Given the description of an element on the screen output the (x, y) to click on. 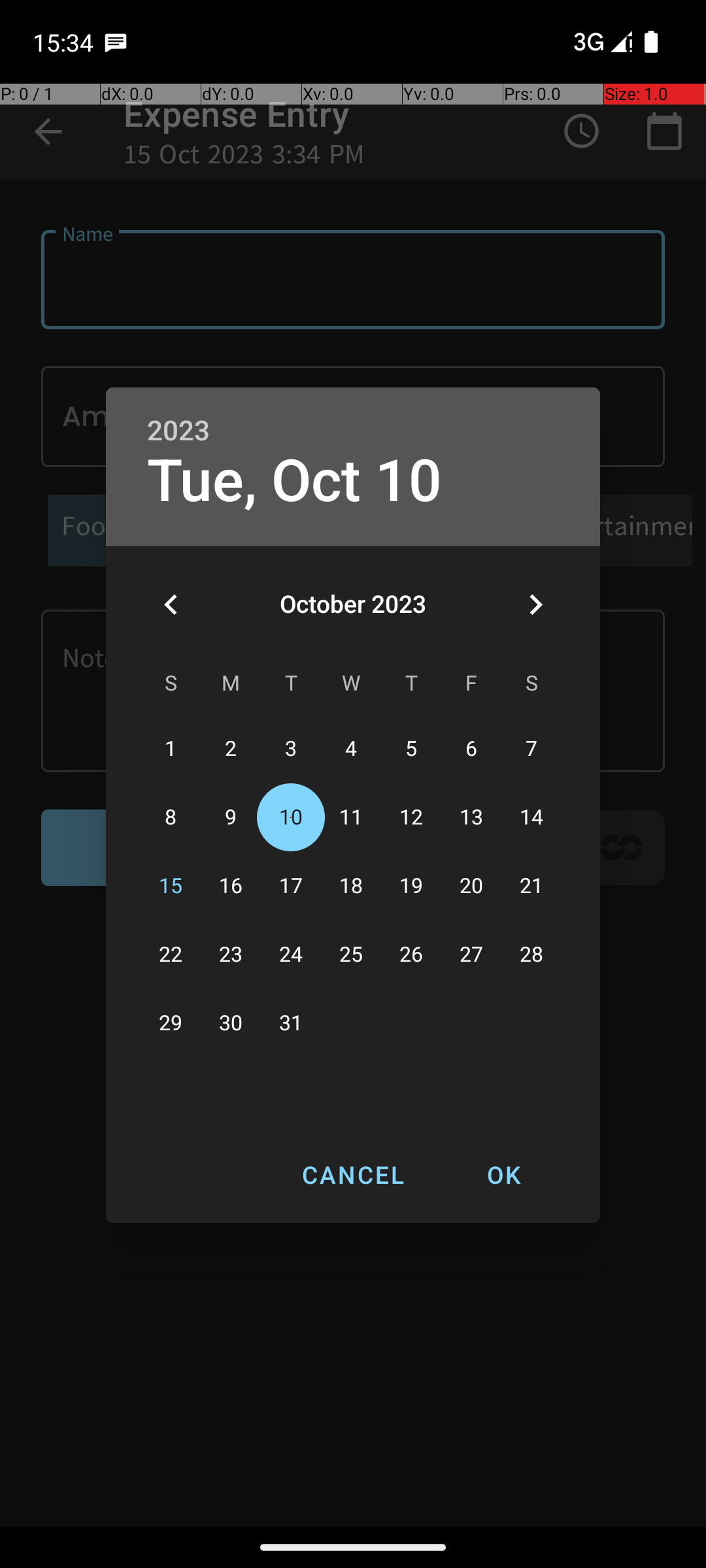
Tue, Oct 10 Element type: android.widget.TextView (294, 480)
